Given the description of an element on the screen output the (x, y) to click on. 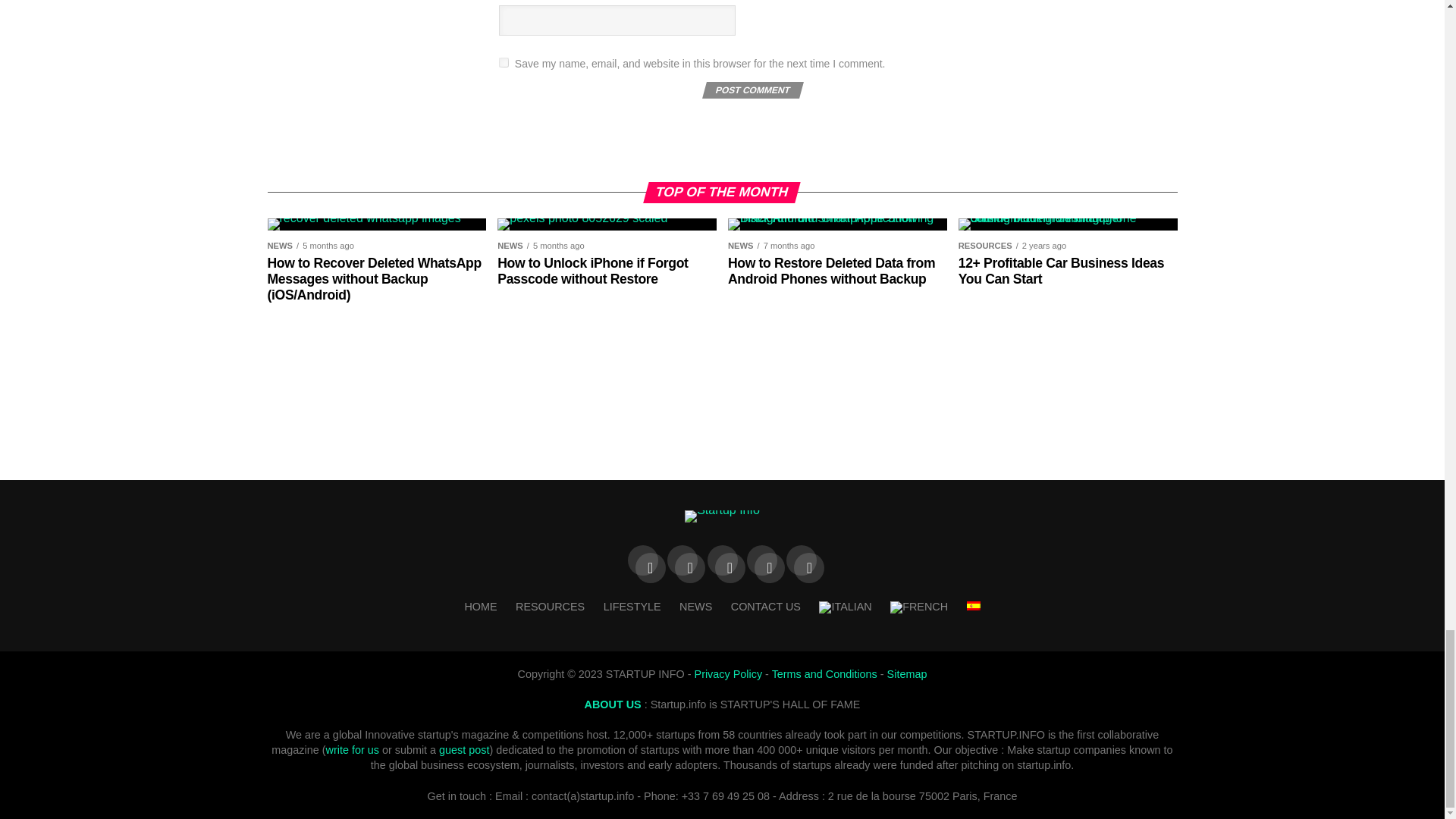
Post Comment (750, 89)
yes (503, 62)
